Given the description of an element on the screen output the (x, y) to click on. 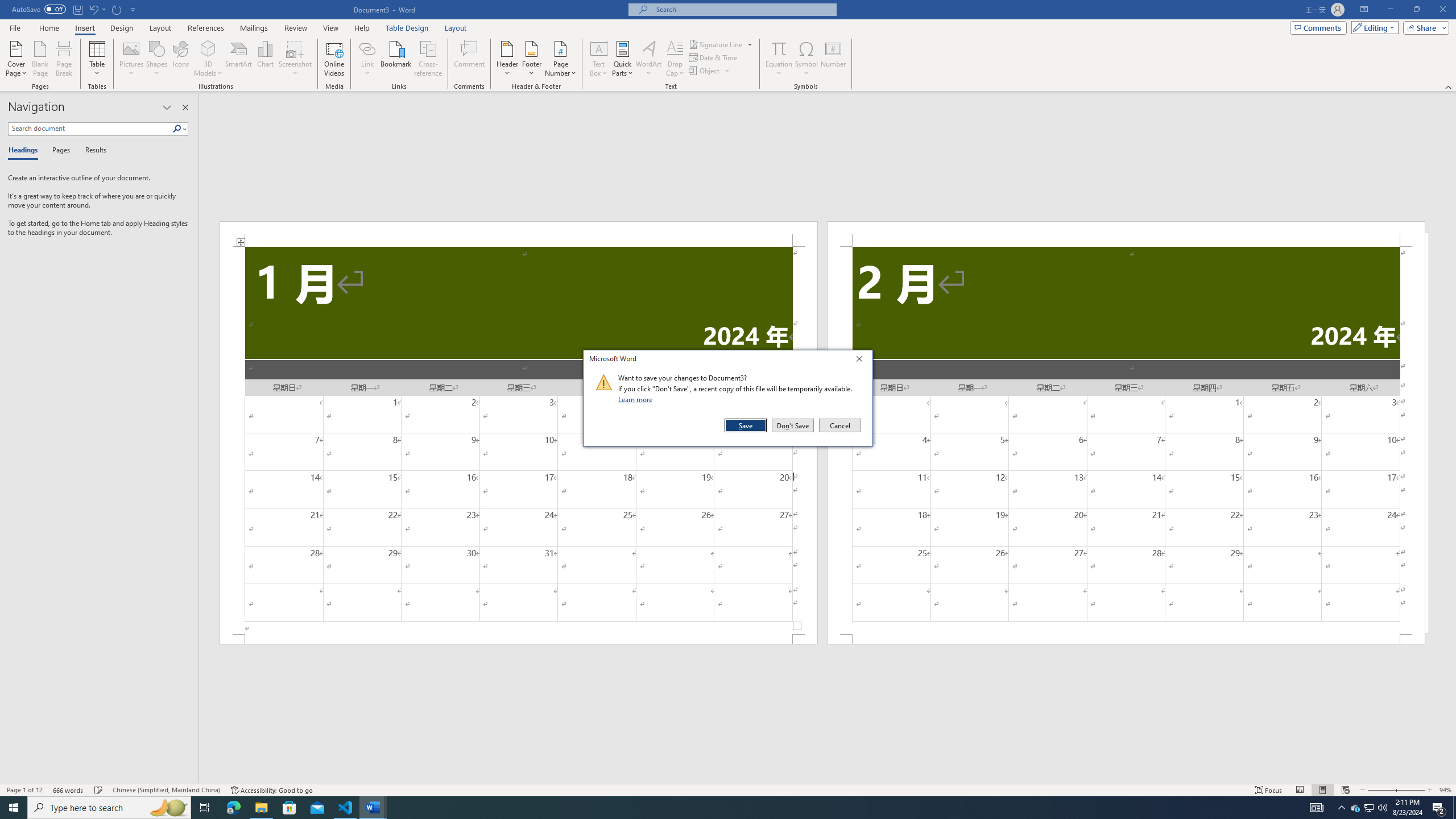
Class: NetUIScrollBar (827, 778)
Object... (709, 69)
Signature Line (716, 44)
Search document (89, 128)
Class: MsoCommandBar (728, 789)
Pictures (131, 58)
3D Models (208, 48)
Text Box (1355, 807)
Page Number Page 1 of 12 (598, 58)
Spelling and Grammar Check Checking (24, 790)
Cancel (98, 790)
